Given the description of an element on the screen output the (x, y) to click on. 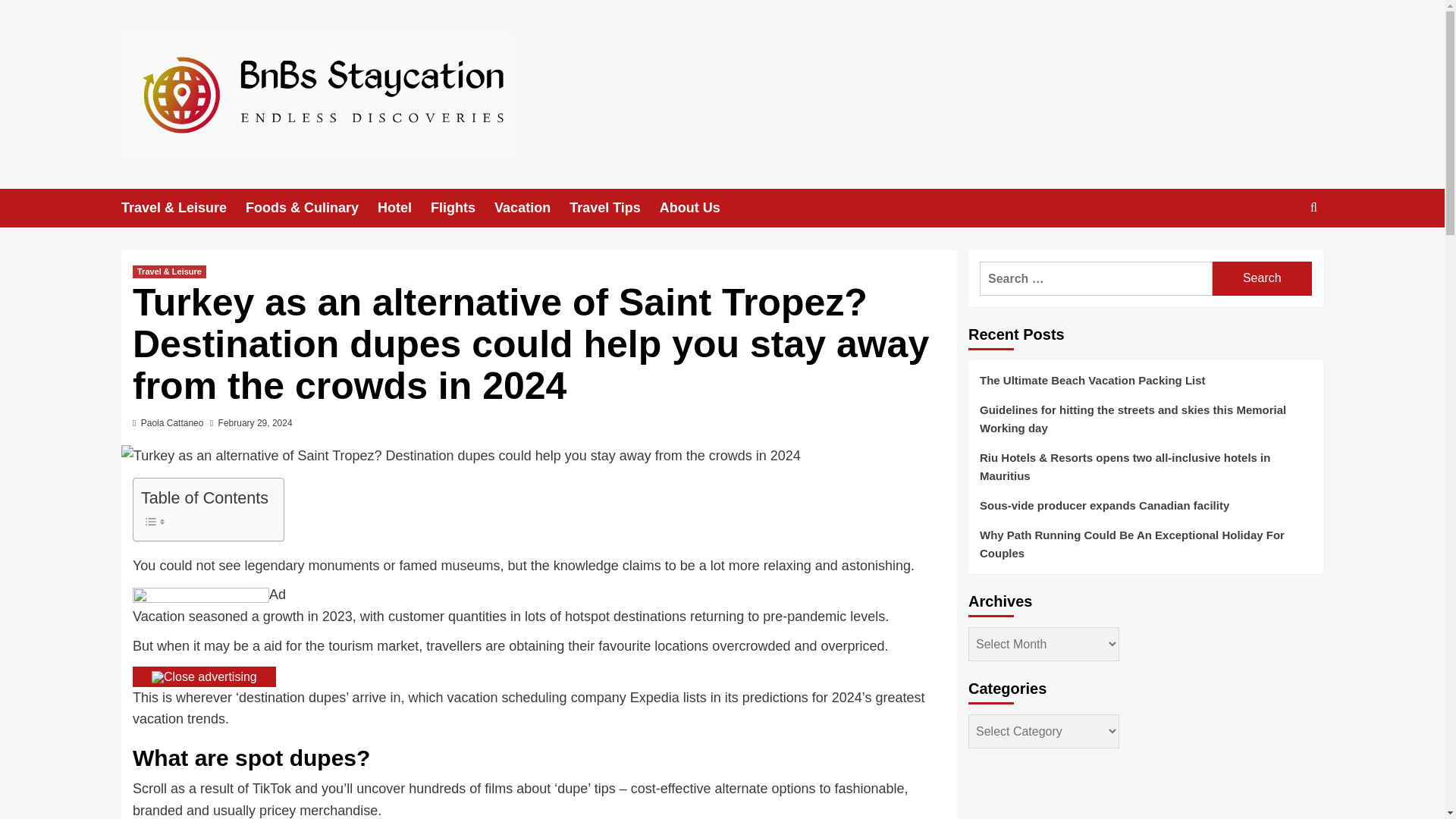
Flights (462, 208)
Paola Cattaneo (172, 422)
Search (1261, 278)
Search (1261, 278)
Travel Tips (614, 208)
About Us (699, 208)
Vacation (532, 208)
Hotel (403, 208)
February 29, 2024 (255, 422)
